Given the description of an element on the screen output the (x, y) to click on. 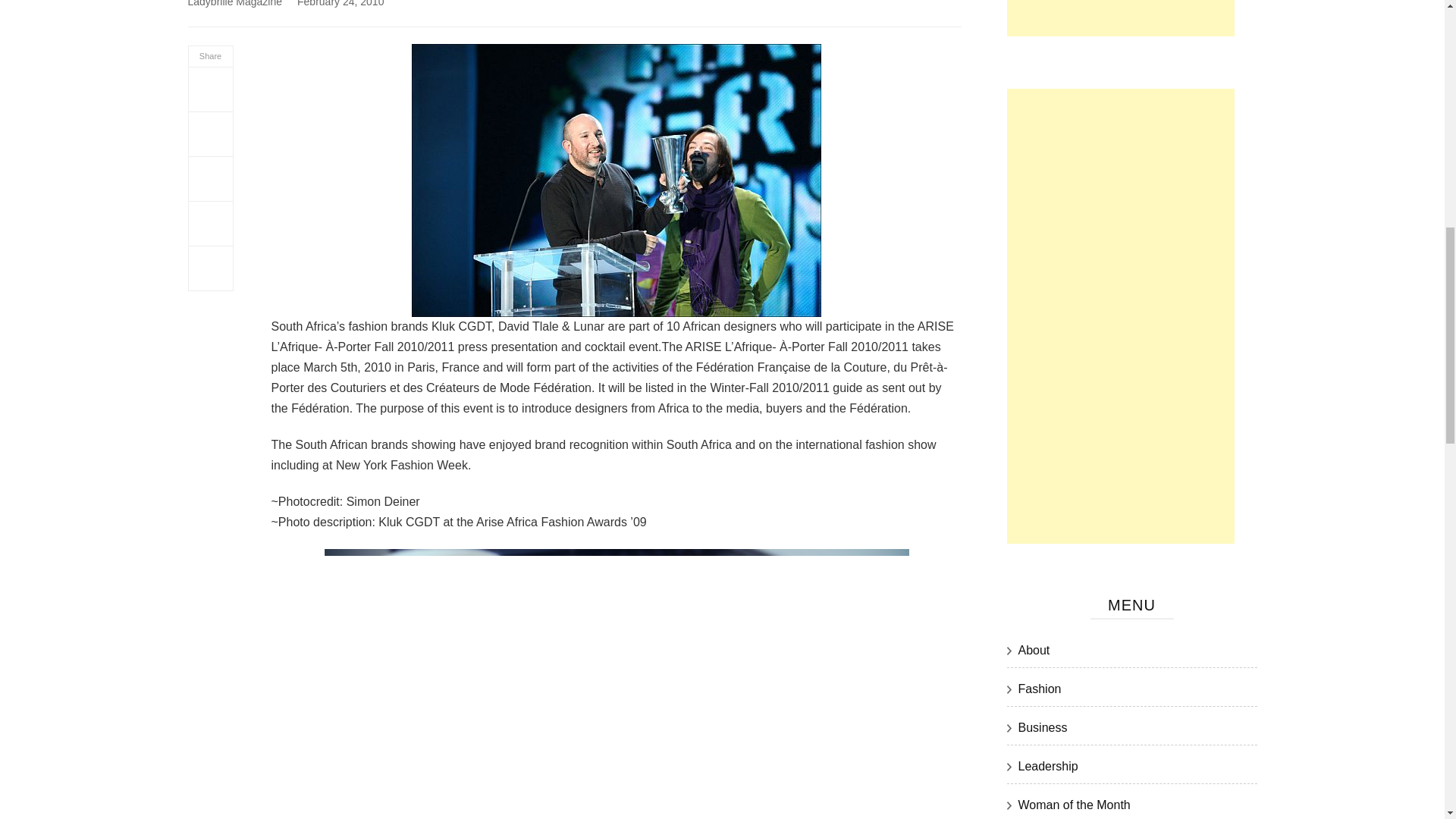
February 24, 2010 (340, 3)
Ladybrille Magazine (234, 3)
KLUK (615, 180)
